Given the description of an element on the screen output the (x, y) to click on. 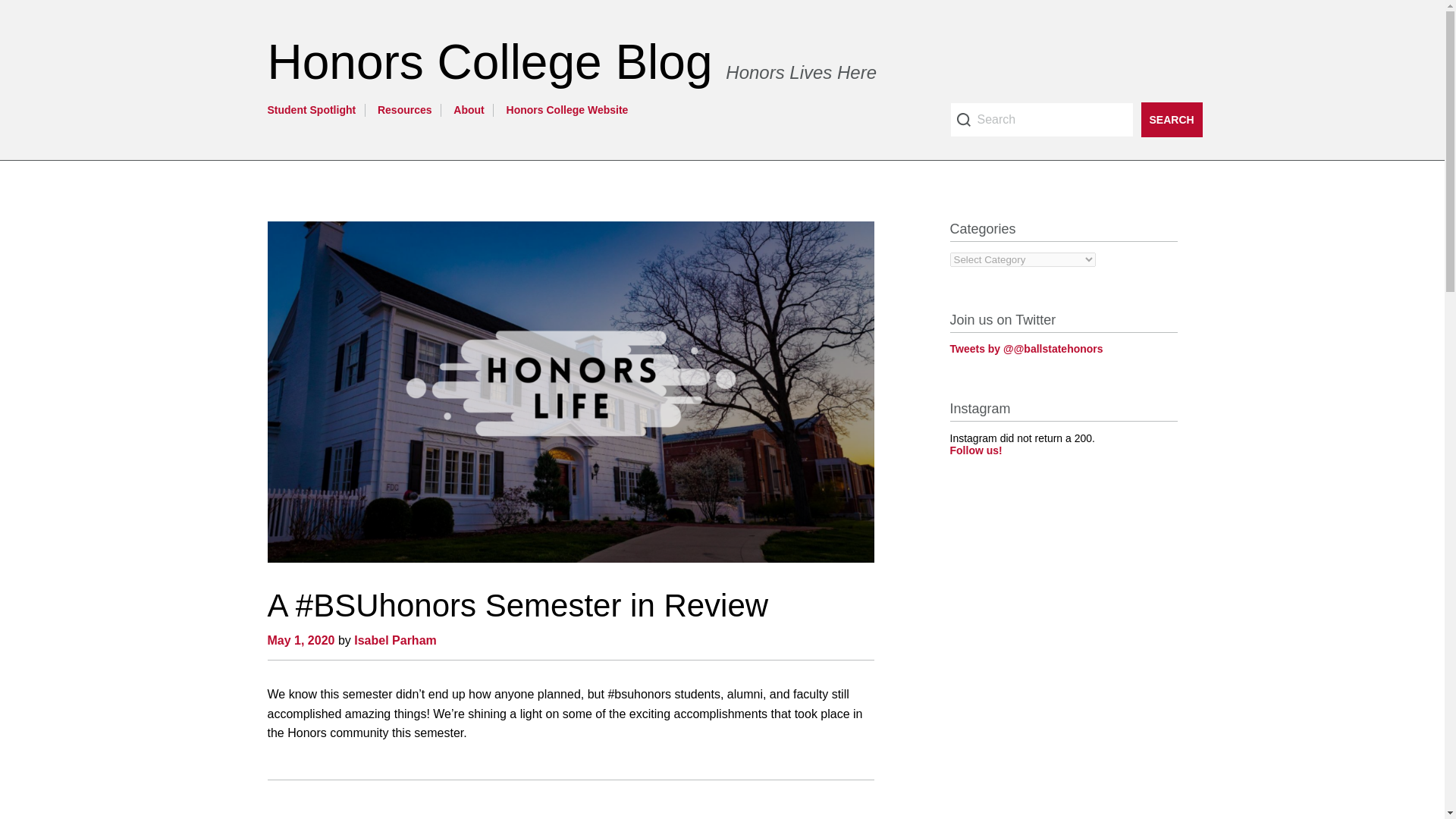
Search (1040, 119)
Search (1171, 119)
Honors College Blog (495, 61)
Isabel Parham (394, 640)
Search (1171, 119)
Student Spotlight (310, 110)
May 1, 2020 (300, 640)
Honors College Website (567, 110)
Resources (404, 110)
Posts by Isabel Parham (394, 640)
